Given the description of an element on the screen output the (x, y) to click on. 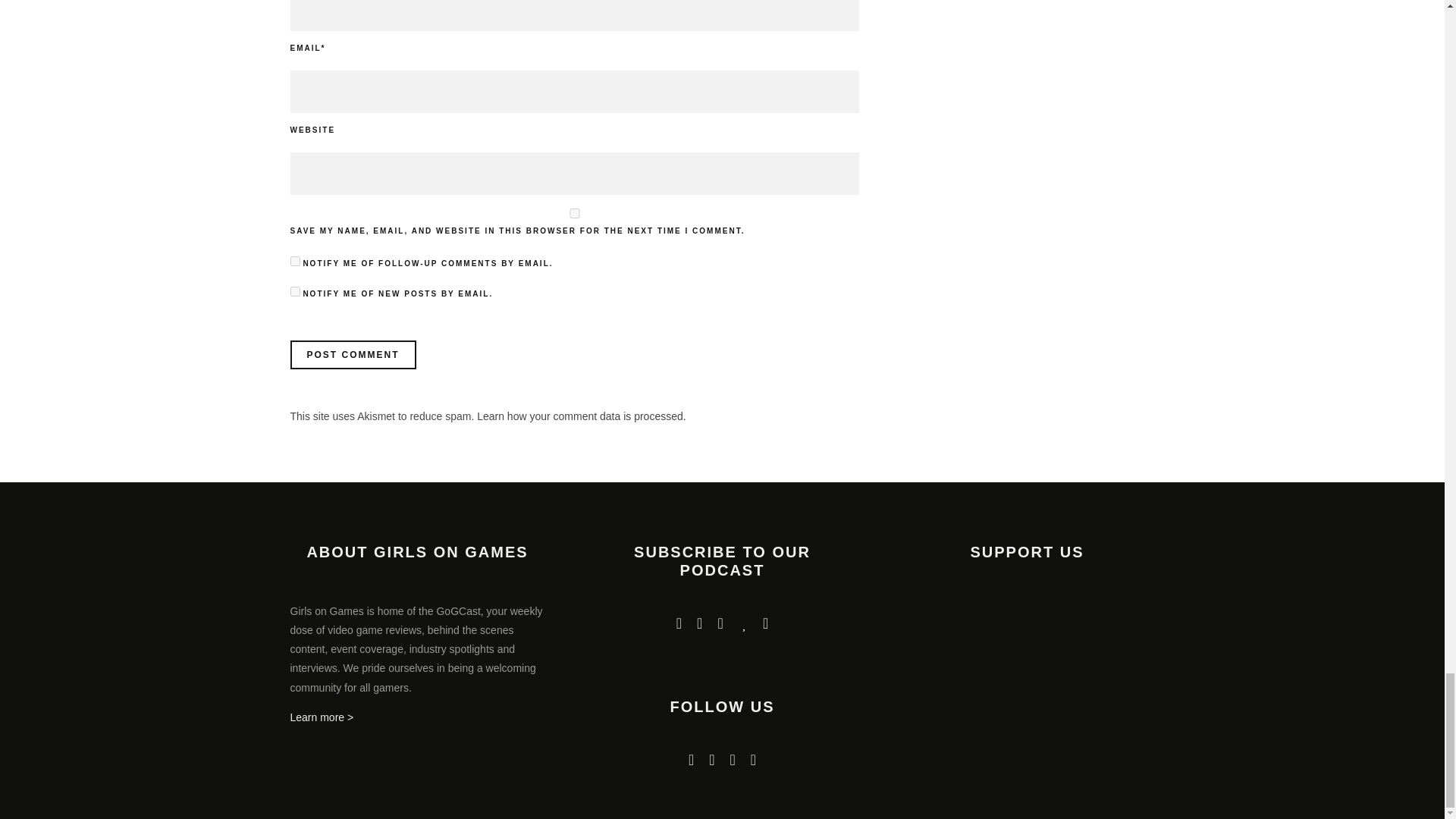
subscribe (294, 261)
subscribe (294, 291)
Post Comment (351, 354)
yes (574, 213)
